Given the description of an element on the screen output the (x, y) to click on. 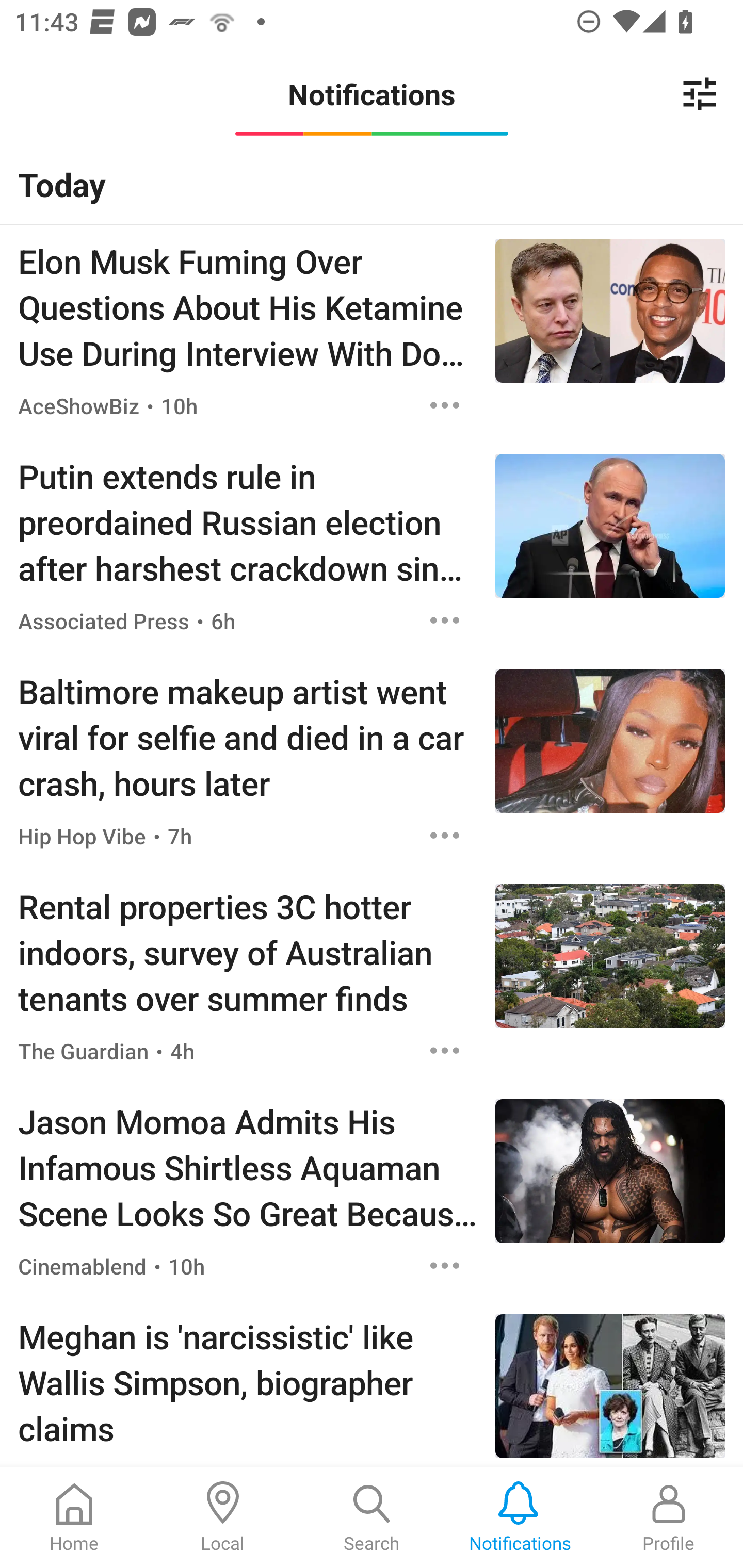
Notification Settings (699, 93)
Today (371, 184)
Options (444, 405)
Options (444, 620)
Options (444, 835)
Options (444, 1050)
Options (444, 1265)
Home (74, 1517)
Local (222, 1517)
Search (371, 1517)
Profile (668, 1517)
